Given the description of an element on the screen output the (x, y) to click on. 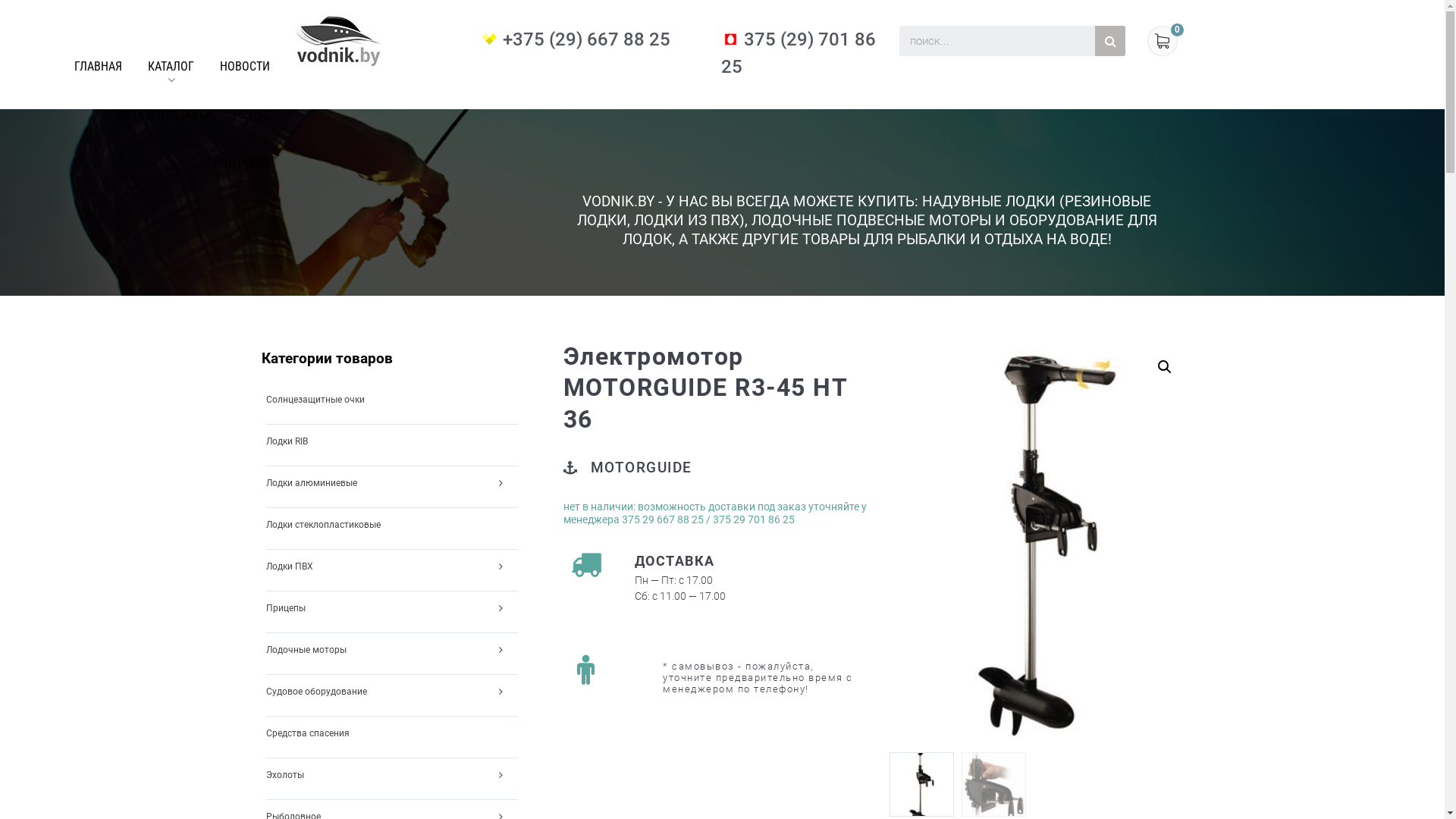
0 Element type: text (1176, 32)
MOTORGUIDE Element type: text (640, 467)
